Given the description of an element on the screen output the (x, y) to click on. 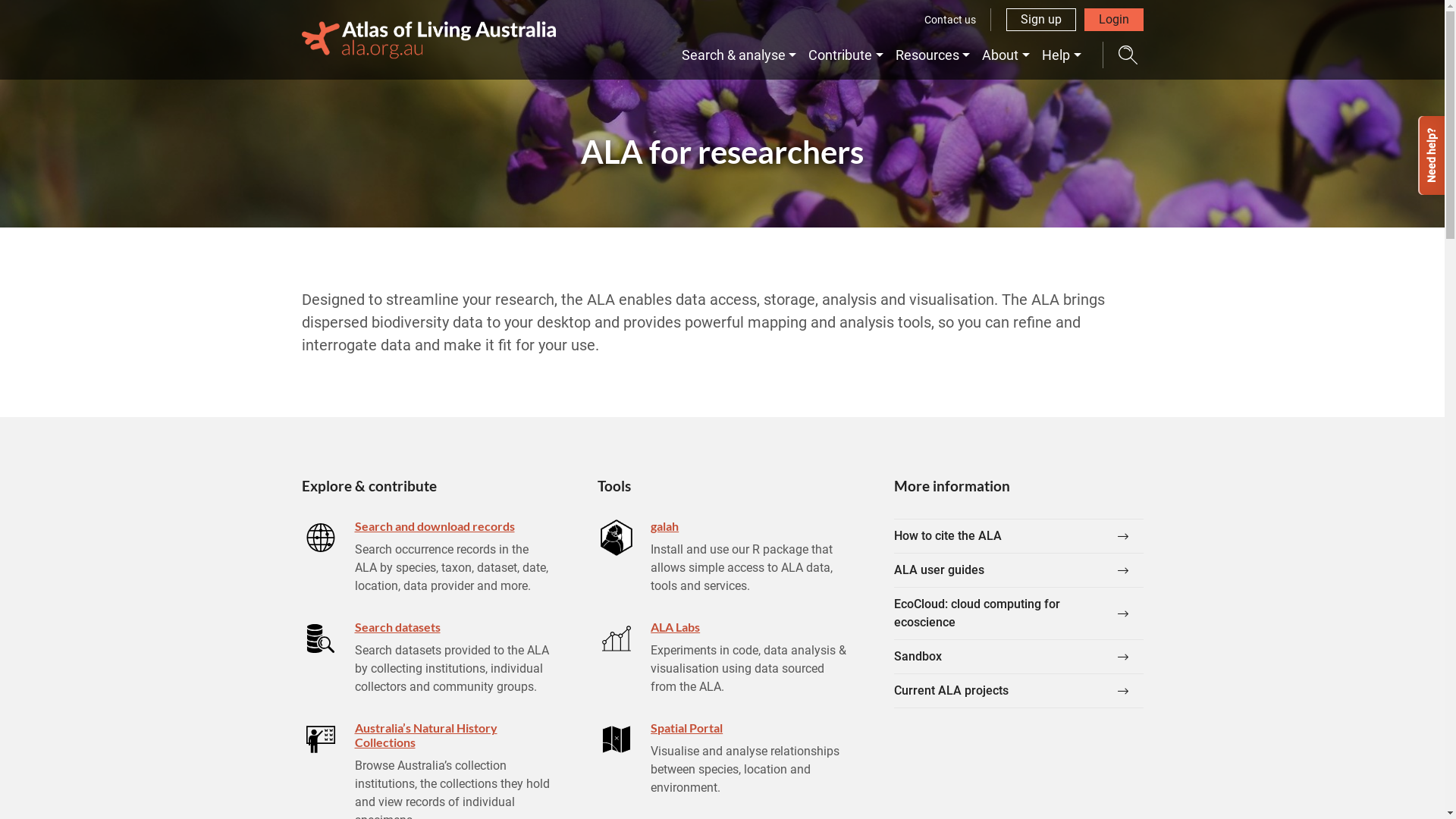
Search & analyse Element type: text (739, 54)
Contact us Element type: text (950, 19)
Help Element type: text (1061, 54)
ALA Labs Element type: text (674, 626)
Current ALA projects Element type: text (1018, 691)
Resources Element type: text (932, 54)
galah Element type: text (664, 525)
Sandbox Element type: text (1018, 657)
Contribute Element type: text (845, 54)
Search and download records Element type: text (434, 525)
Spatial Portal Element type: text (686, 727)
Sign up Element type: text (1040, 19)
EcoCloud: cloud computing for ecoscience Element type: text (1018, 613)
How to cite the ALA Element type: text (1018, 535)
Search datasets Element type: text (397, 626)
Login Element type: text (1113, 19)
About Element type: text (1005, 54)
ALA user guides Element type: text (1018, 570)
